Given the description of an element on the screen output the (x, y) to click on. 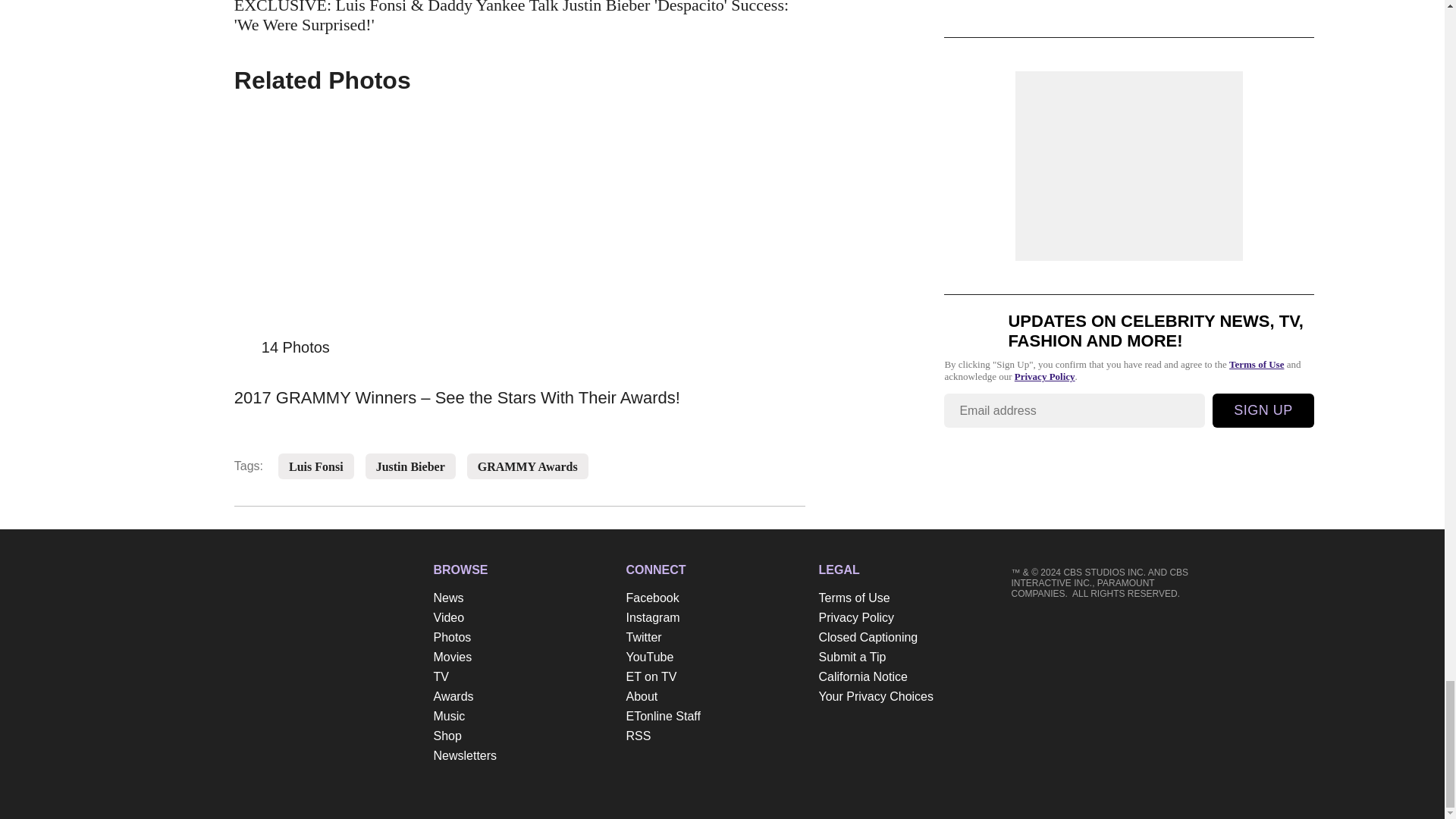
GRAMMY Awards (527, 467)
Luis Fonsi (315, 467)
Justin Bieber (410, 467)
